Given the description of an element on the screen output the (x, y) to click on. 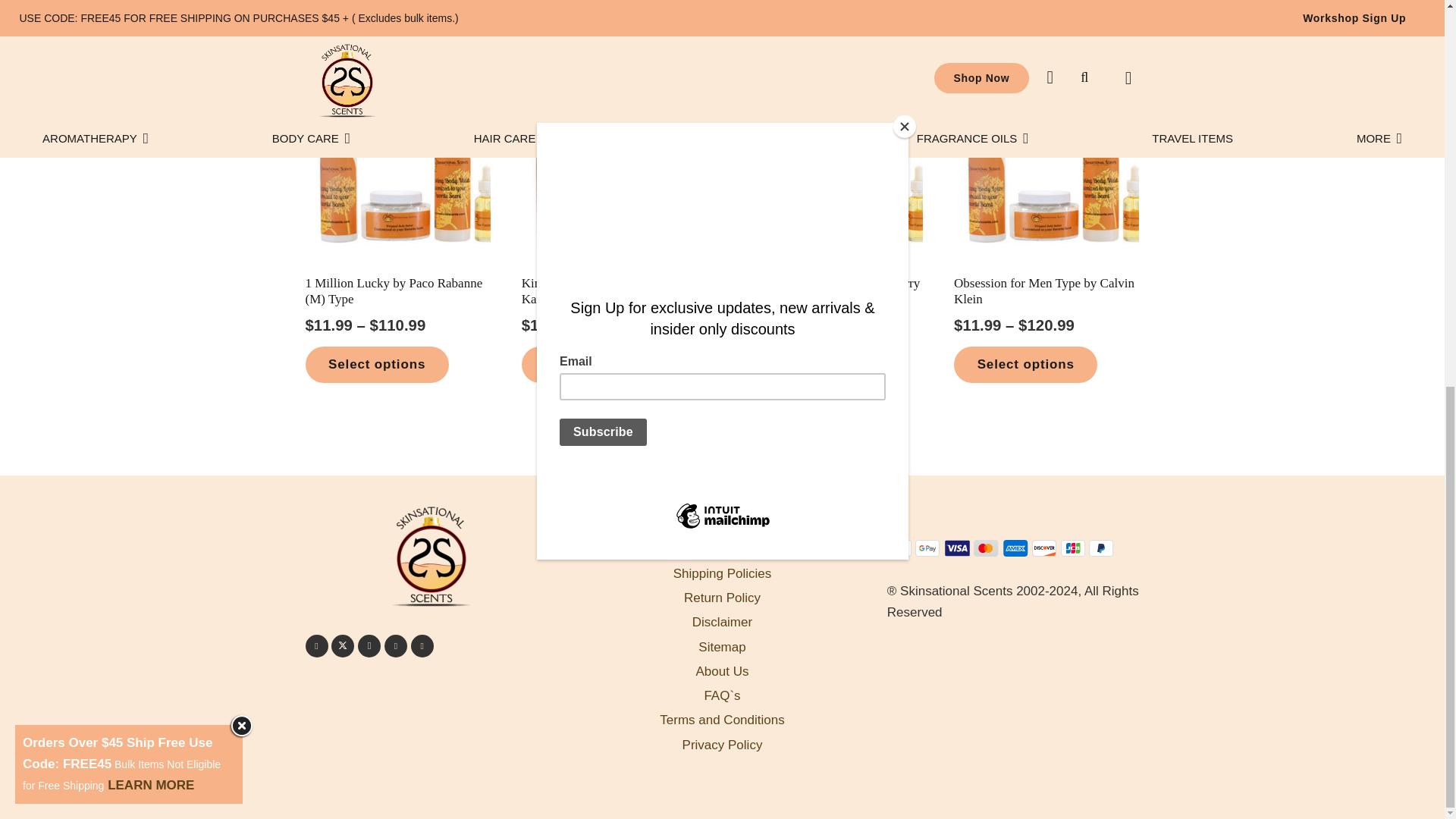
Twitter (342, 645)
Instagram (369, 645)
YouTube (395, 645)
Facebook (315, 645)
Email (421, 645)
Back to top (1406, 113)
